Given the description of an element on the screen output the (x, y) to click on. 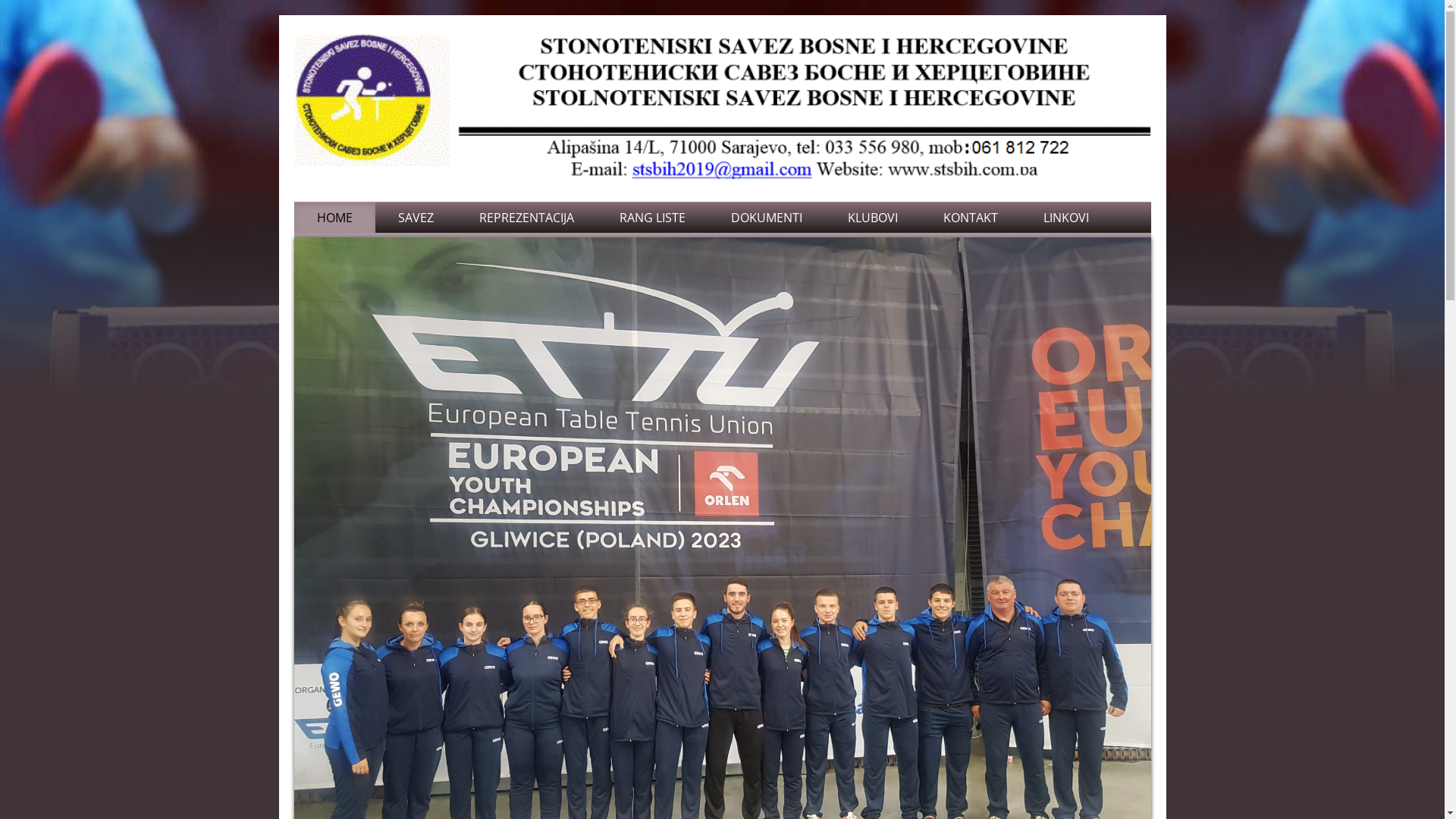
RANG LISTE Element type: text (651, 217)
REPREZENTACIJA Element type: text (526, 217)
SAVEZ Element type: text (414, 217)
KLUBOVI Element type: text (872, 217)
DOKUMENTI Element type: text (766, 217)
KONTAKT Element type: text (970, 217)
HOME Element type: text (334, 217)
LINKOVI Element type: text (1065, 217)
